Given the description of an element on the screen output the (x, y) to click on. 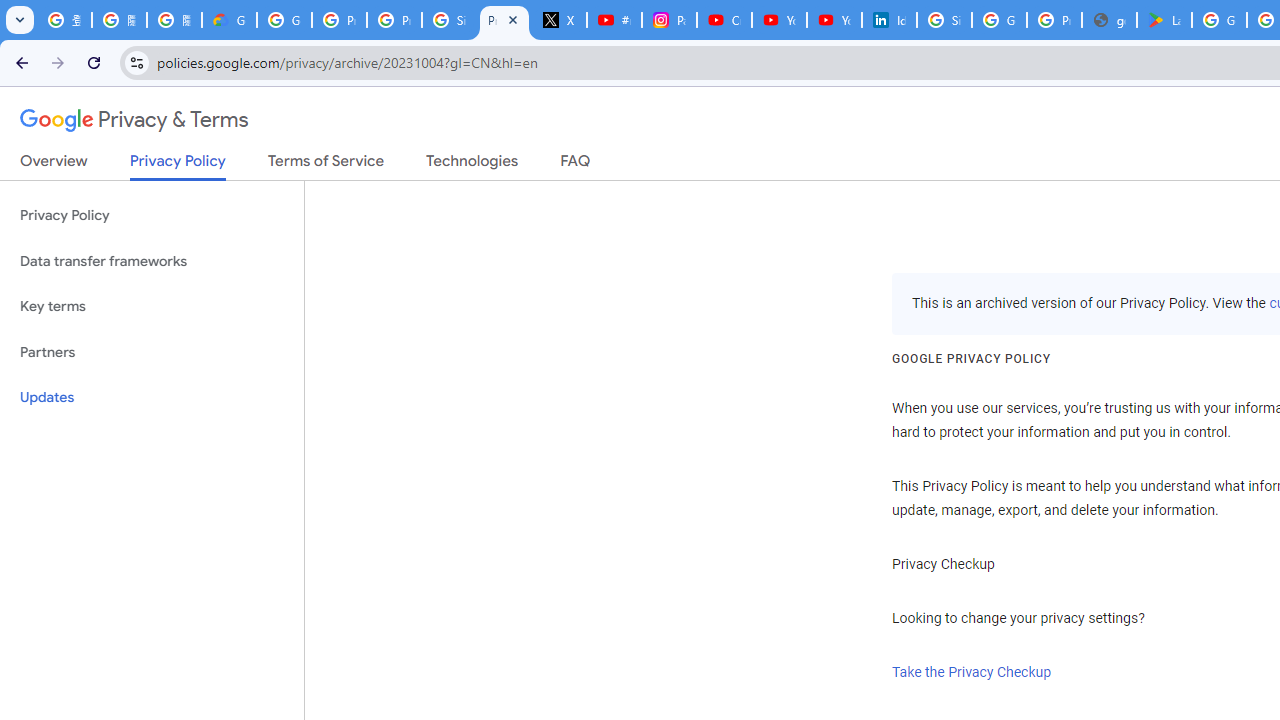
FAQ (575, 165)
X (559, 20)
google_privacy_policy_en.pdf (1108, 20)
Privacy & Terms (134, 120)
Privacy Help Center - Policies Help (394, 20)
